Given the description of an element on the screen output the (x, y) to click on. 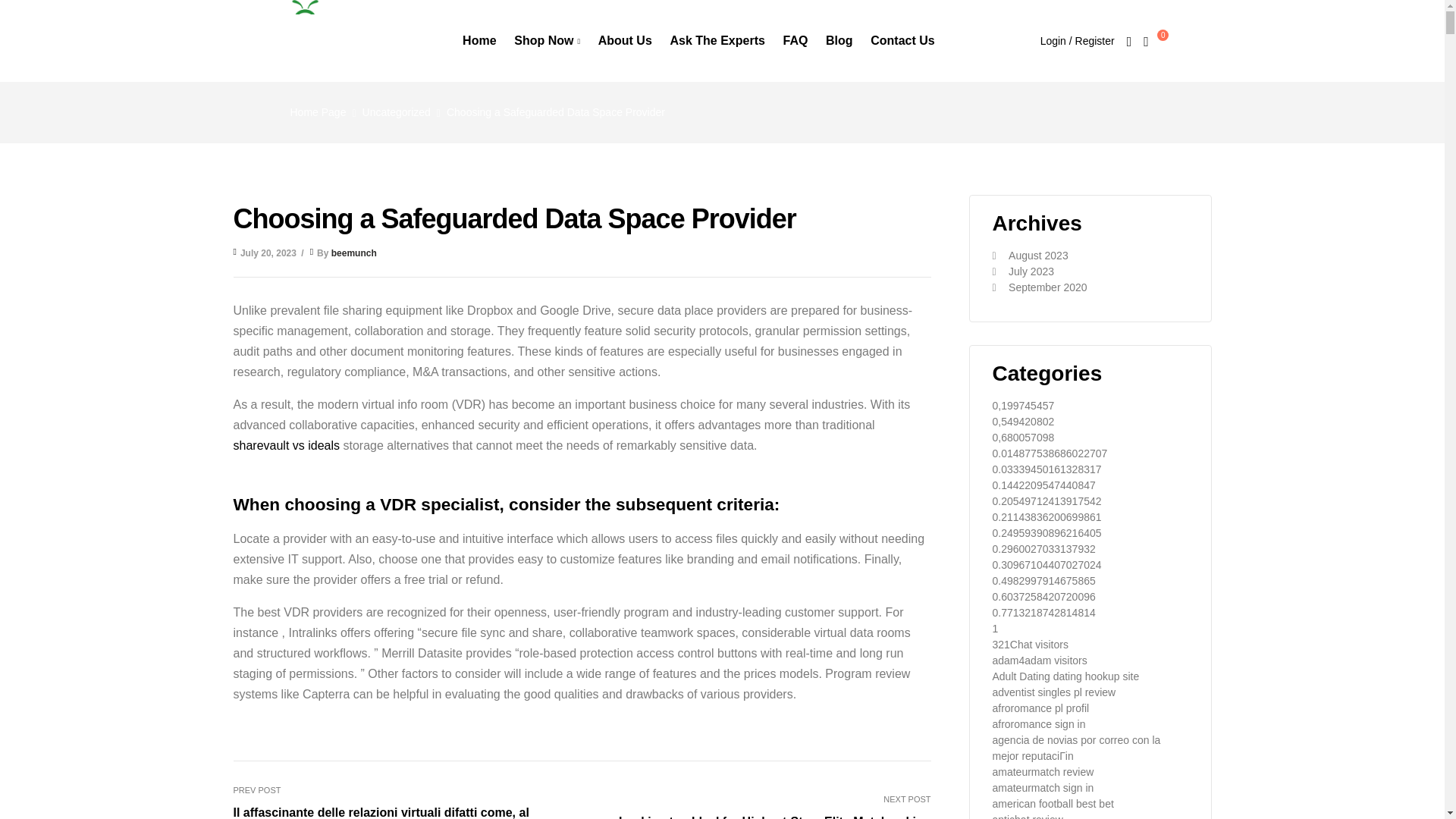
sharevault vs ideals (286, 445)
0,680057098 (1022, 437)
0.03339450161328317 (1045, 469)
Contact Us (902, 40)
Uncategorized (396, 111)
September 2020 (1048, 287)
About Us (625, 40)
0.1442209547440847 (1042, 485)
Ask The Experts (717, 40)
0,199745457 (1022, 405)
0.014877538686022707 (1048, 453)
0,549420802 (1022, 421)
beemunch (354, 253)
